Given the description of an element on the screen output the (x, y) to click on. 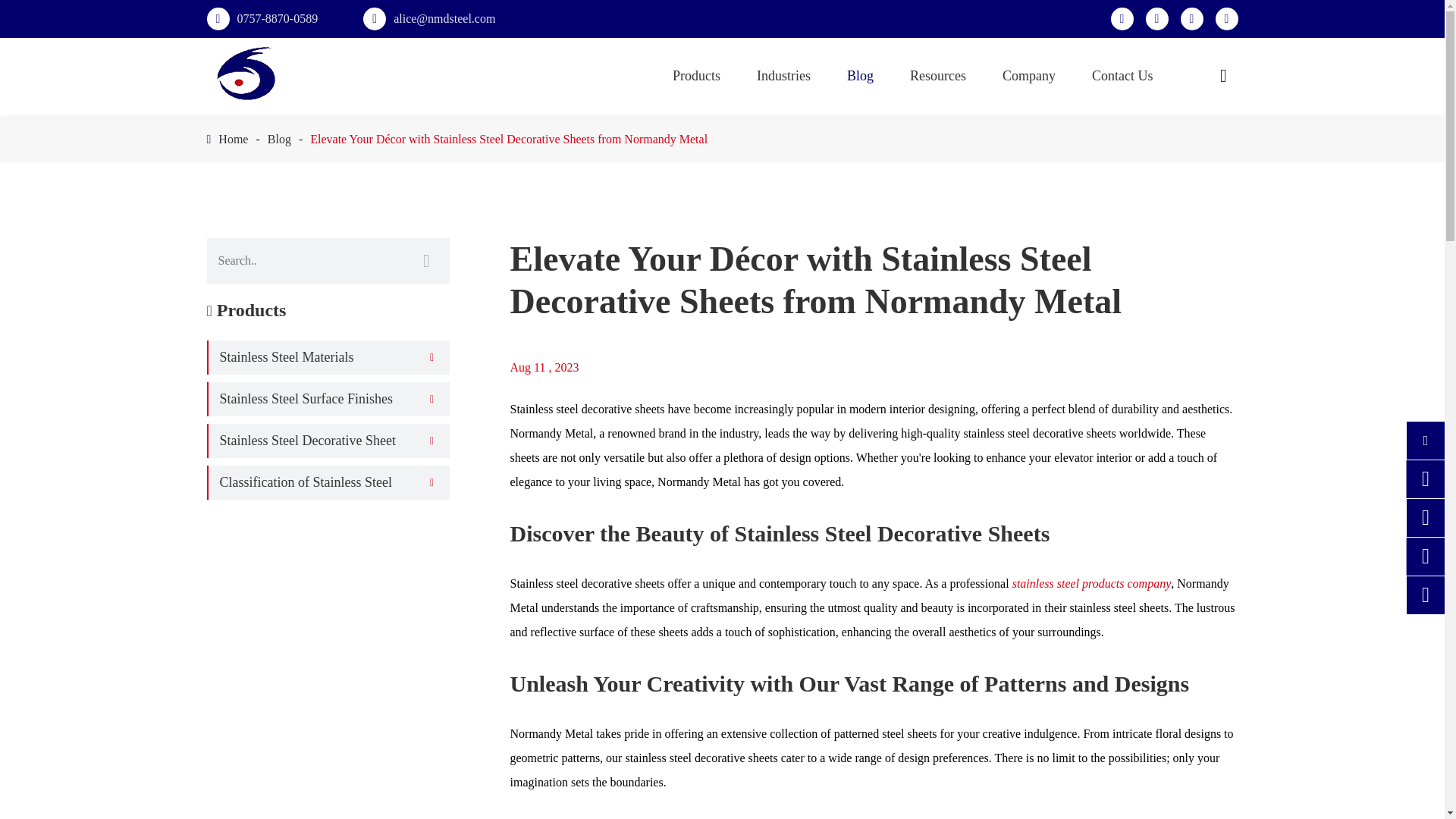
Blog (279, 138)
0757-8870-0589 (276, 18)
Normandy Metal Industry Co., Ltd. (246, 74)
